Given the description of an element on the screen output the (x, y) to click on. 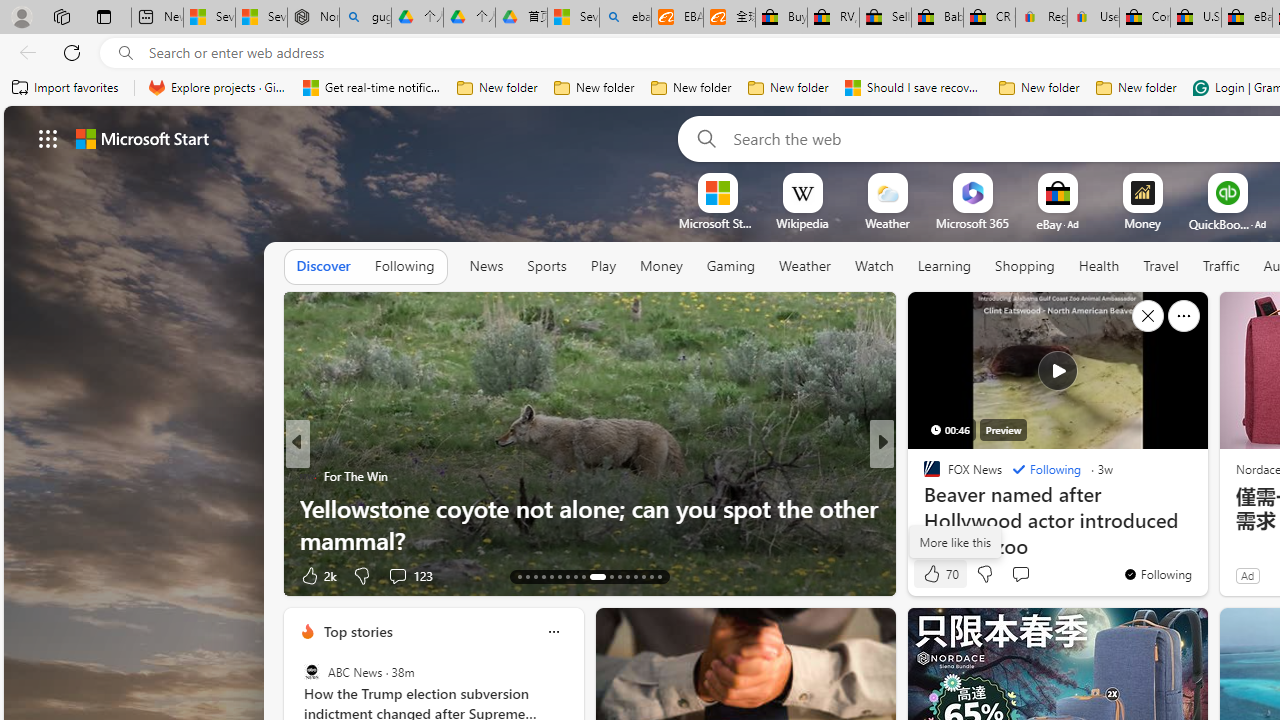
Play (602, 265)
Buy Auto Parts & Accessories | eBay (781, 17)
Import favorites (65, 88)
Should I save recovered Word documents? - Microsoft Support (913, 88)
Real Wild (923, 507)
Shopping (1025, 267)
SlashGear (923, 507)
Register: Create a personal eBay account (1041, 17)
BRAINY DOSE (923, 475)
